Given the description of an element on the screen output the (x, y) to click on. 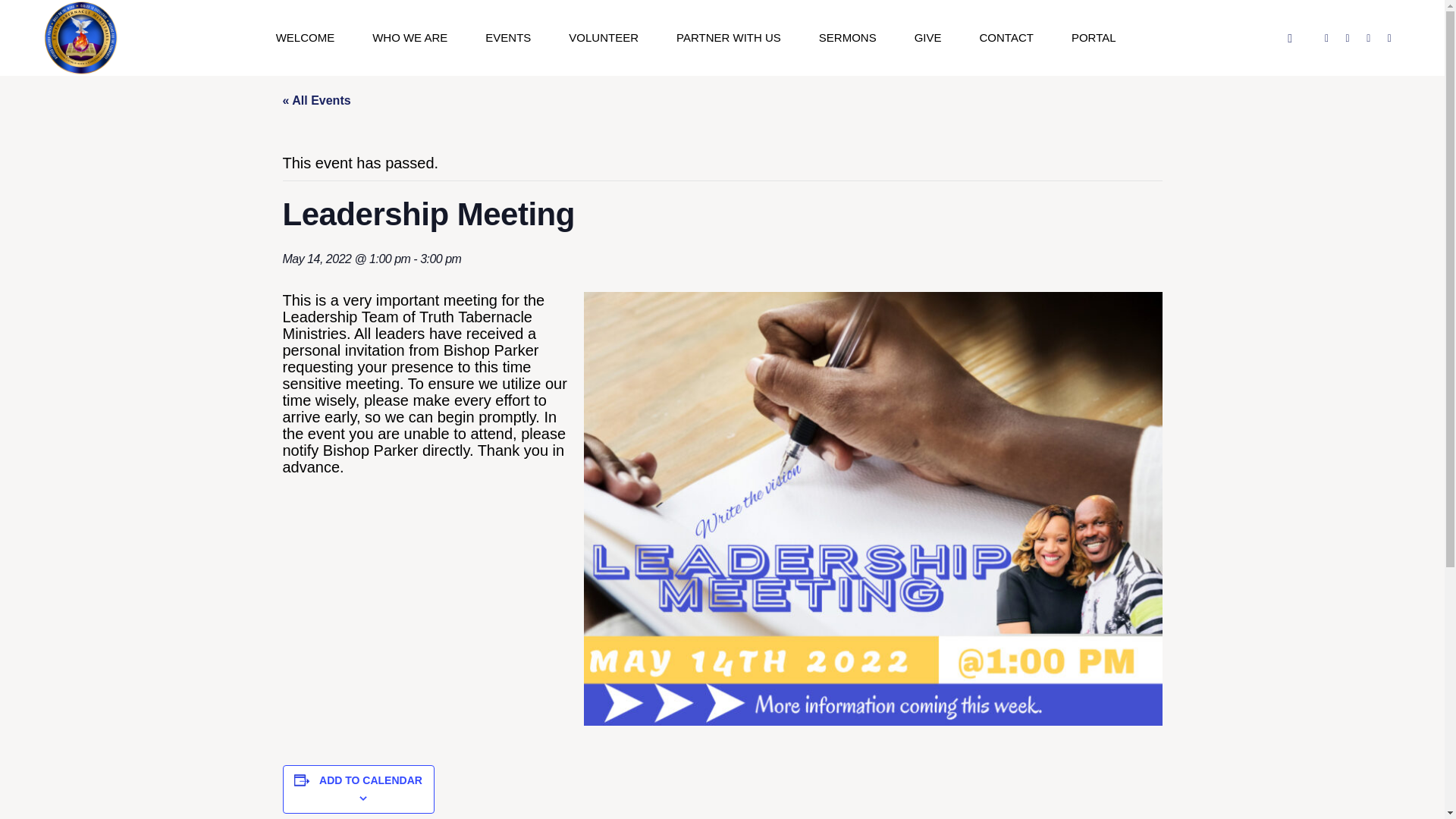
WHO WE ARE (409, 37)
Facebook (1327, 38)
VOLUNTEER (604, 37)
Twitter (1347, 38)
EVENTS (507, 37)
WELCOME (305, 37)
PARTNER WITH US (728, 37)
SERMONS (847, 37)
CONTACT (1006, 37)
YouTube (1368, 38)
